Given the description of an element on the screen output the (x, y) to click on. 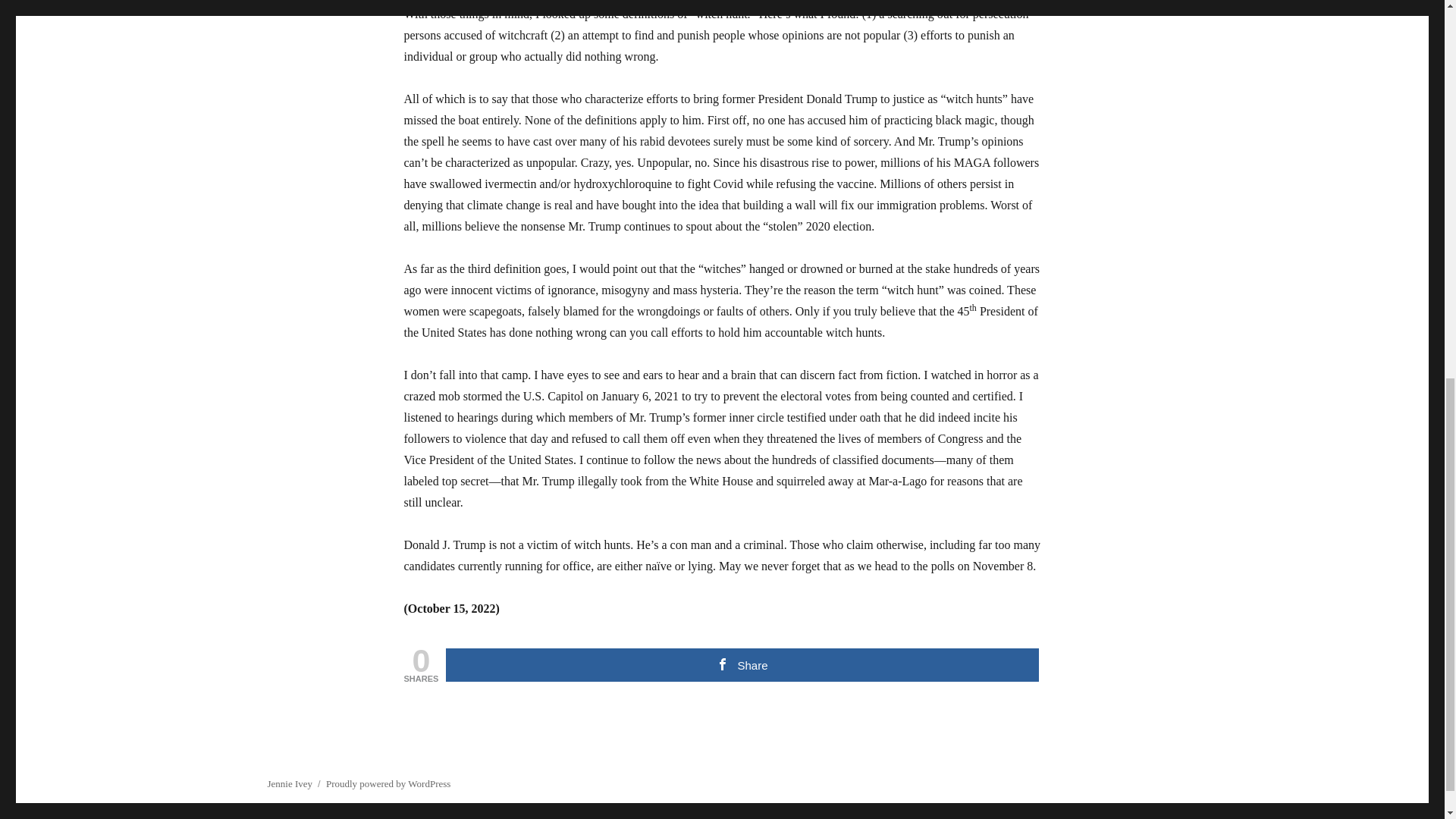
Jennie Ivey (289, 783)
Share (741, 664)
Proudly powered by WordPress (387, 783)
